Given the description of an element on the screen output the (x, y) to click on. 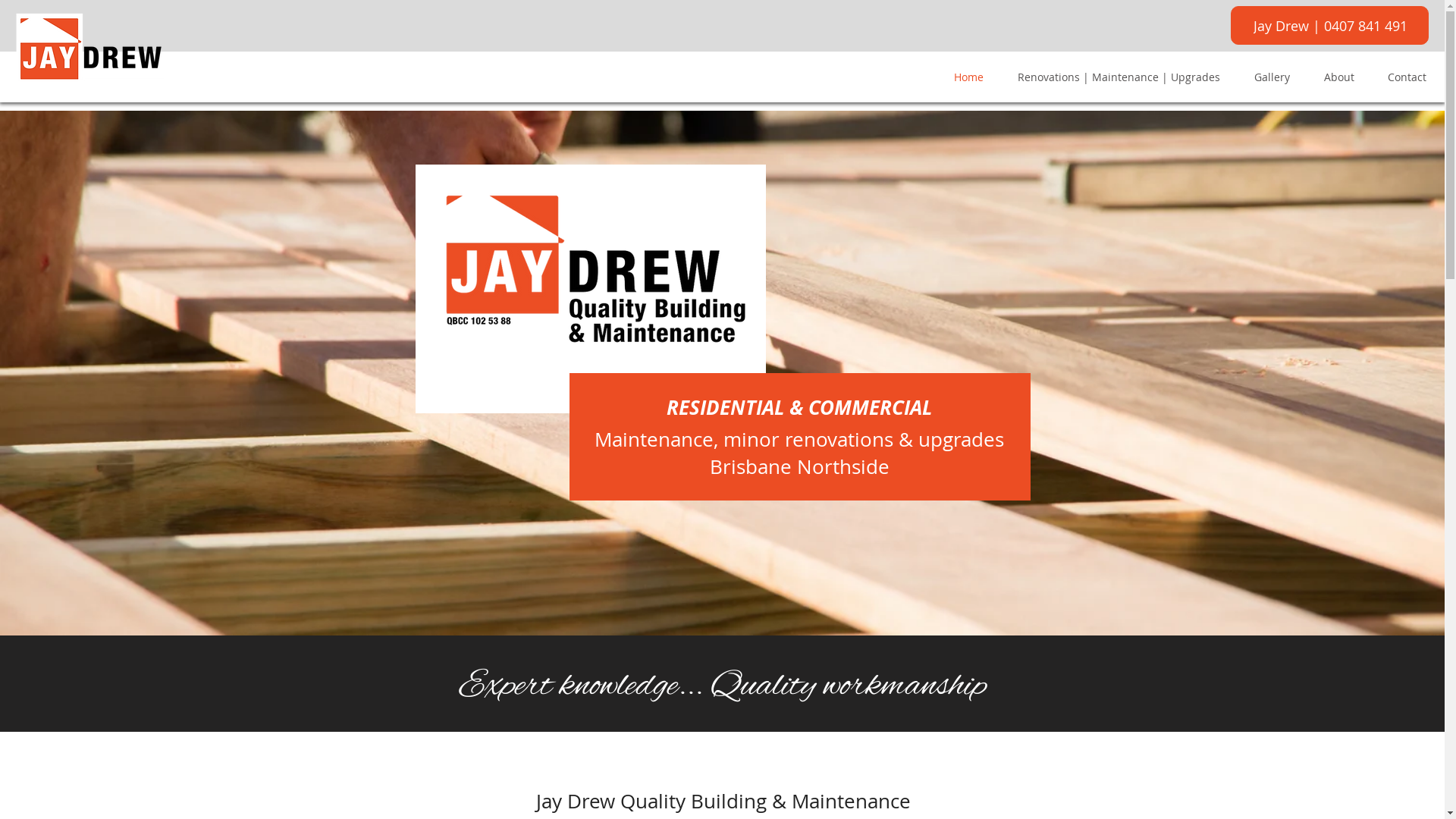
Jay Drew | 0407 841 491 Element type: text (1329, 25)
Contact Element type: text (1409, 76)
Home Element type: text (971, 76)
Renovations | Maintenance | Upgrades Element type: text (1121, 76)
About Element type: text (1341, 76)
